Given the description of an element on the screen output the (x, y) to click on. 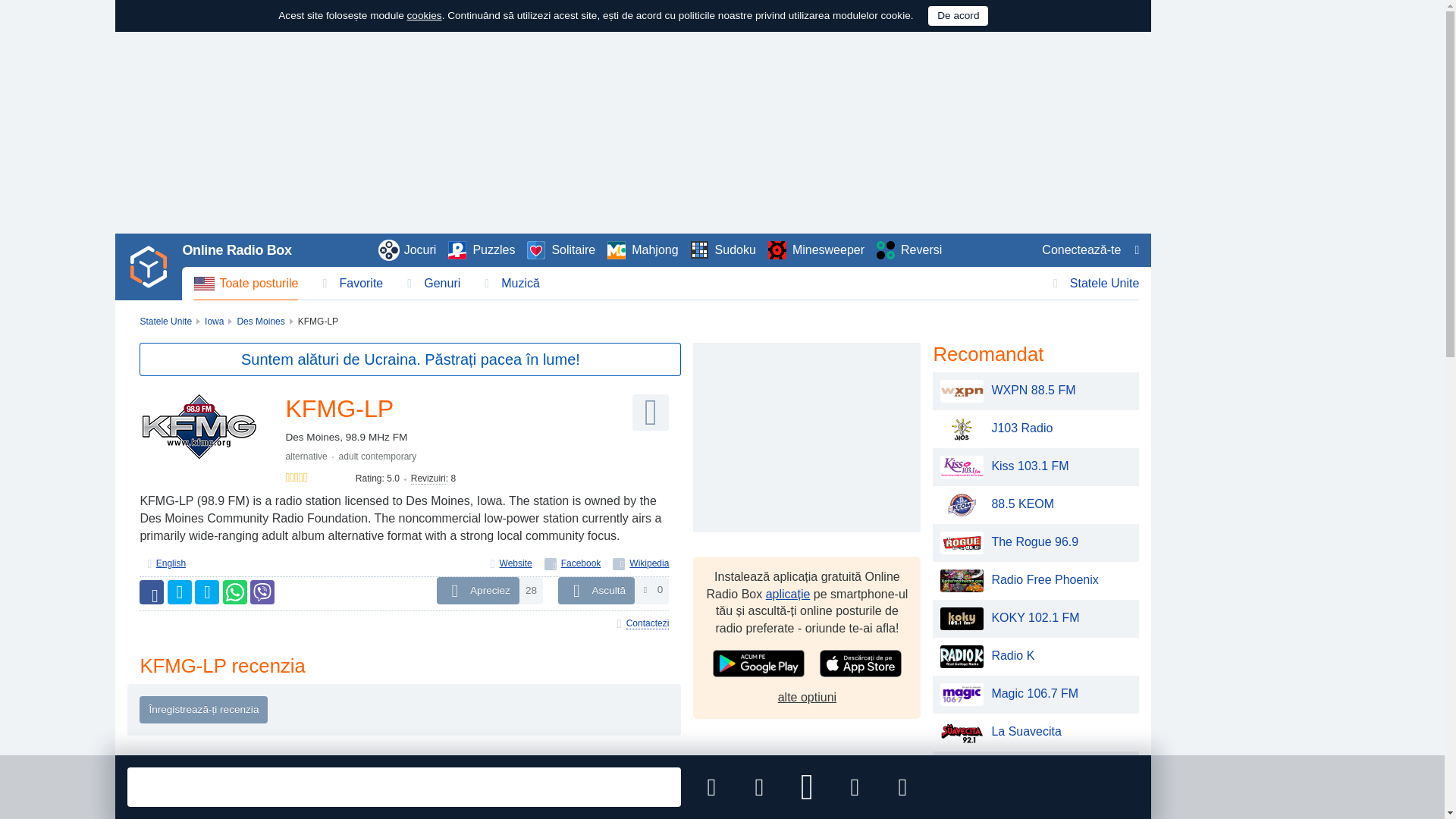
Statele Unite (165, 321)
Favorite (351, 283)
Wikipedia (640, 562)
Des Moines (259, 321)
Reversi (909, 249)
Statele Unite (1096, 283)
Solitaire (561, 249)
Postul anterior (759, 787)
Mahjong (642, 249)
English (170, 562)
De acord (958, 15)
KFMG-LP (199, 425)
Jocuri (408, 249)
Minesweeper (816, 249)
Asculta radio (649, 411)
